Given the description of an element on the screen output the (x, y) to click on. 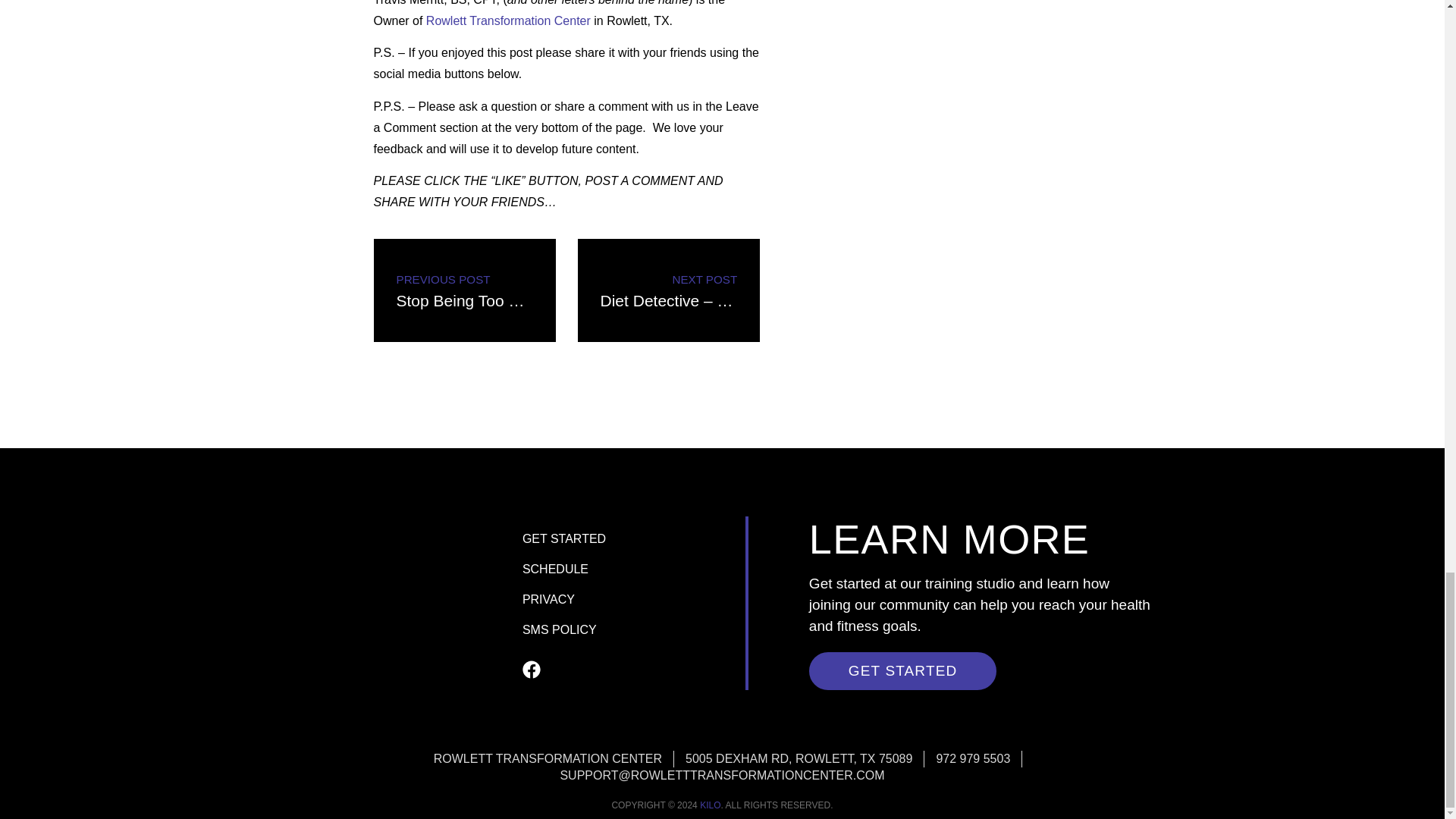
GET STARTED (630, 539)
PRIVACY (630, 599)
Rowlett Transformation Center (464, 290)
SCHEDULE (508, 20)
SMS POLICY (630, 569)
